Given the description of an element on the screen output the (x, y) to click on. 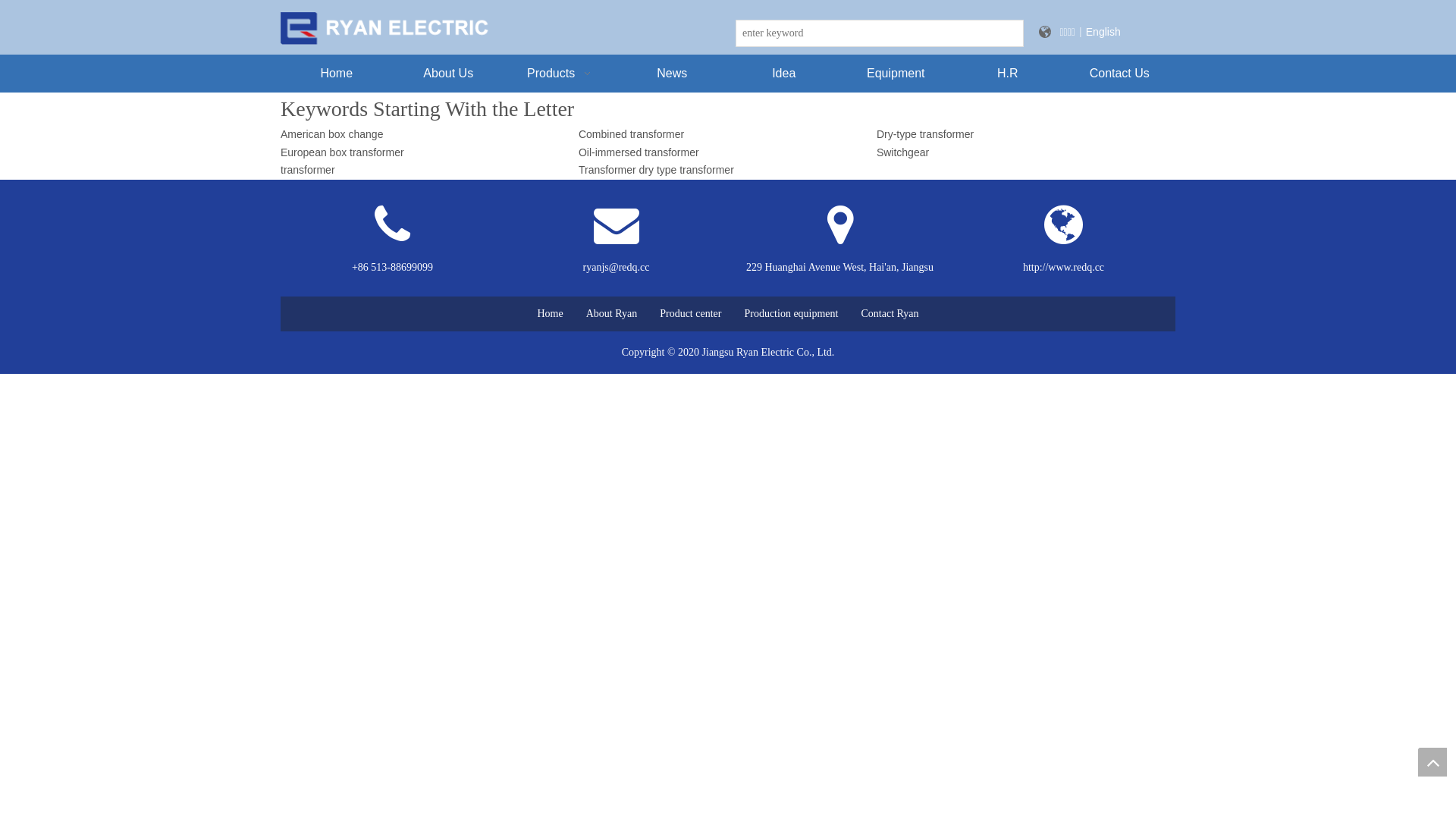
News Element type: text (671, 73)
Idea Element type: text (784, 73)
American box change Element type: text (331, 134)
Contact Us Element type: text (1119, 73)
English Element type: text (1102, 31)
Production equipment Element type: text (790, 313)
Contact Ryan Element type: text (889, 313)
Switchgear Element type: text (902, 152)
About Ryan Element type: text (611, 313)
Home Element type: text (549, 313)
transformer Element type: text (307, 169)
Dry-type transformer Element type: text (924, 134)
European box transformer Element type: text (342, 152)
top Element type: text (1432, 761)
Combined transformer Element type: text (631, 134)
1 Element type: hover (386, 28)
About Us Element type: text (448, 73)
Equipment Element type: text (896, 73)
Product center Element type: text (690, 313)
Transformer dry type transformer Element type: text (656, 169)
H.R Element type: text (1007, 73)
Home Element type: text (336, 73)
Oil-immersed transformer Element type: text (638, 152)
Products   Element type: text (560, 73)
